Given the description of an element on the screen output the (x, y) to click on. 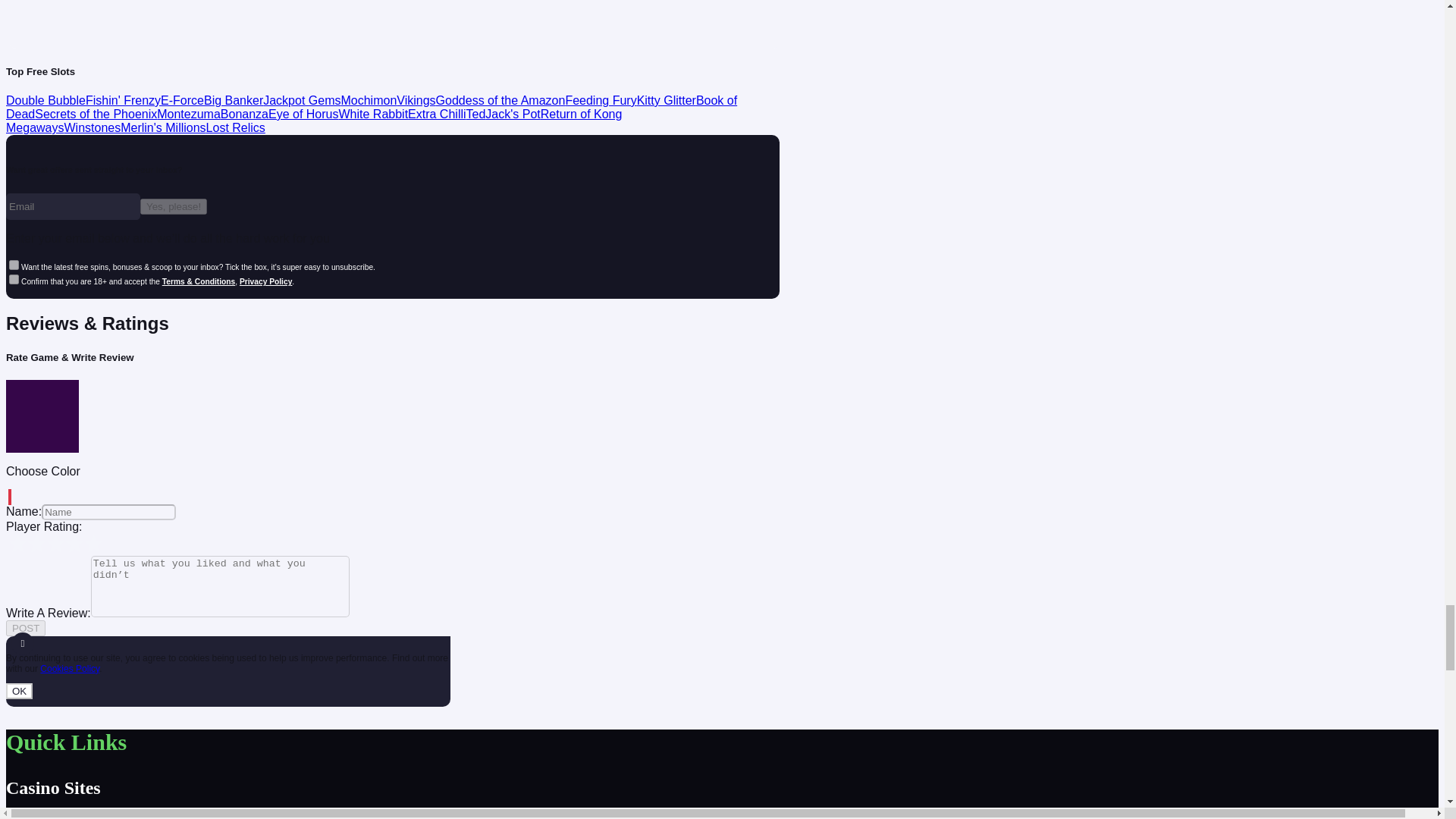
on (13, 265)
on (13, 279)
